Given the description of an element on the screen output the (x, y) to click on. 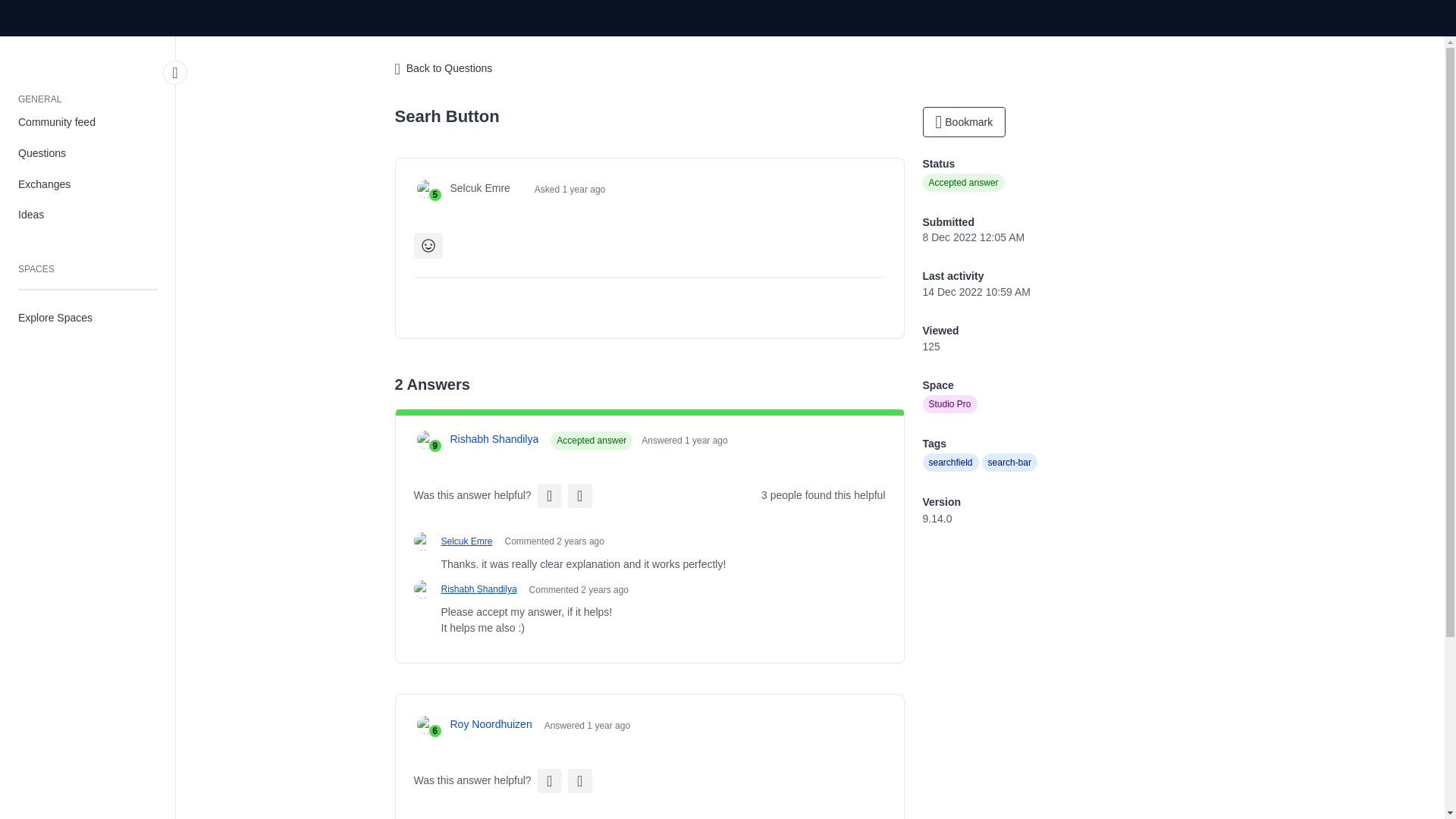
Exchanges (87, 183)
Collapse Menu (175, 72)
Studio Pro (948, 403)
Questions (87, 153)
Ideas (87, 214)
Community feed (87, 122)
Rishabh Shandilya (478, 589)
Selcuk Emre (467, 540)
Bookmark (963, 122)
Explore Spaces (87, 317)
Back to Questions (443, 68)
Roy Noordhuizen (490, 724)
Rishabh Shandilya (493, 439)
